Given the description of an element on the screen output the (x, y) to click on. 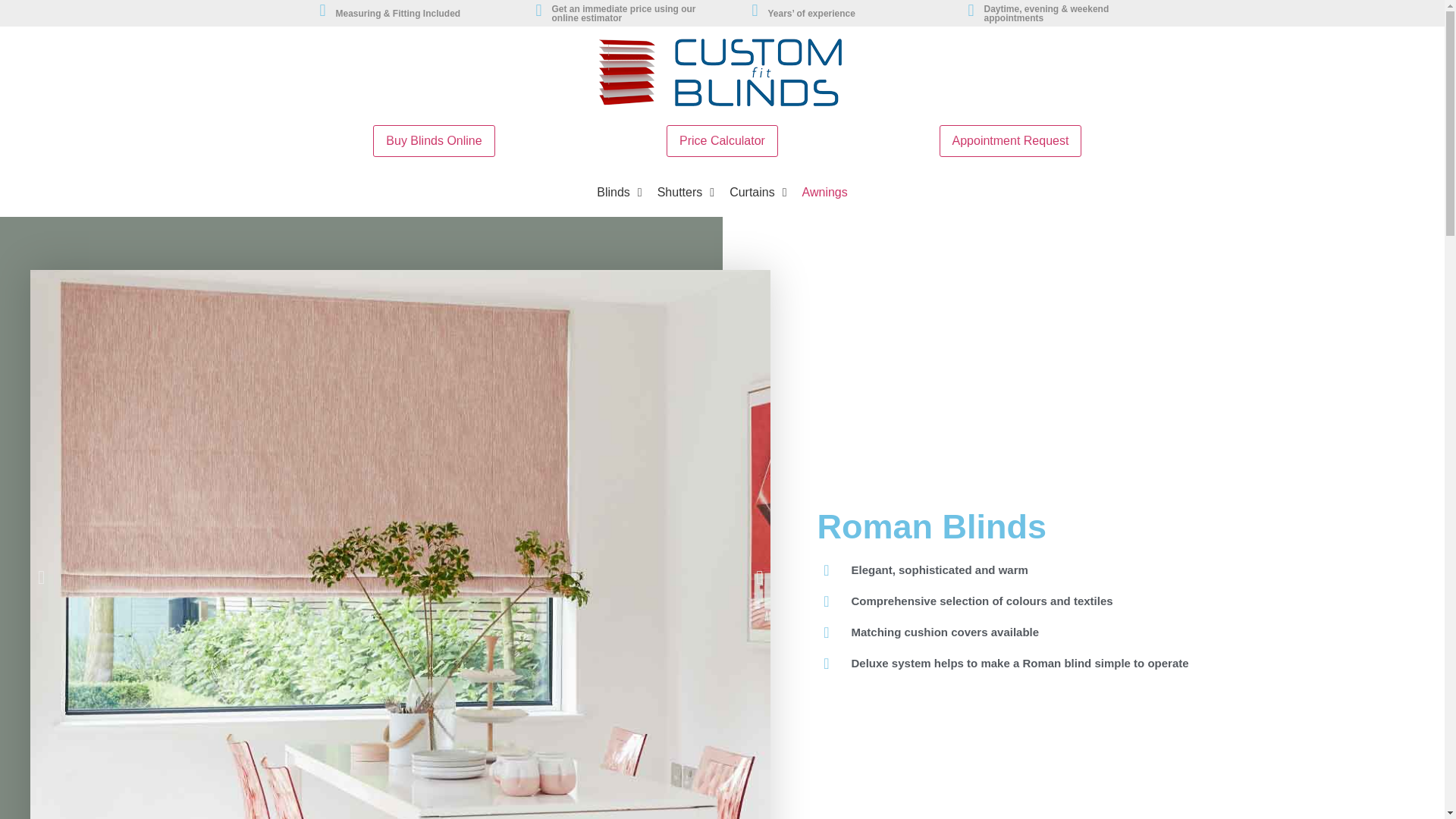
Price Calculator (721, 141)
Appointment Request (1010, 140)
Curtains (757, 192)
Appointment Request (1010, 141)
Price Calculator (721, 140)
Blinds (619, 192)
Shutters (685, 192)
Buy Blinds Online (433, 141)
Buy Blinds Online (433, 140)
